Given the description of an element on the screen output the (x, y) to click on. 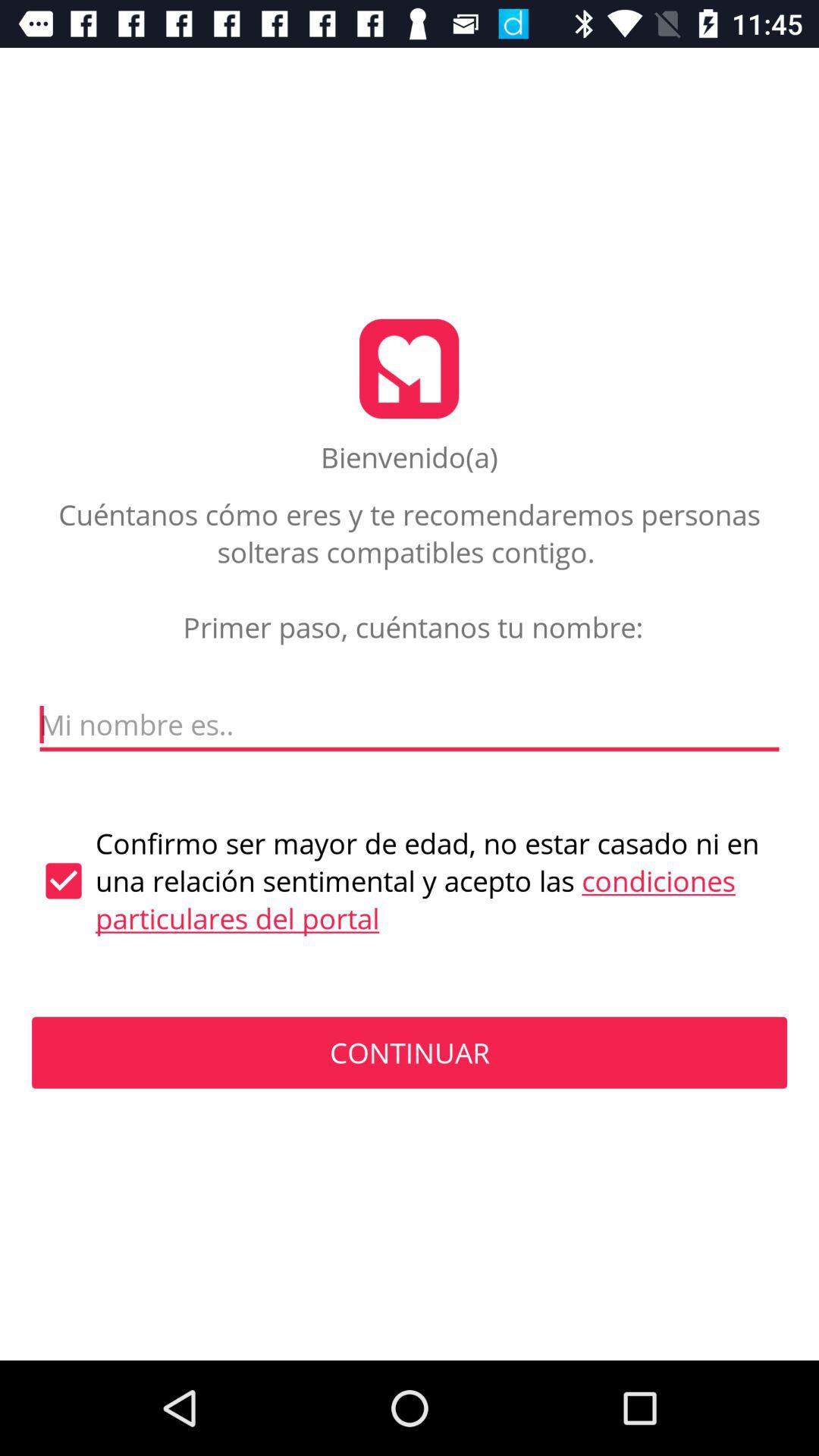
flip to the continuar (409, 1052)
